Given the description of an element on the screen output the (x, y) to click on. 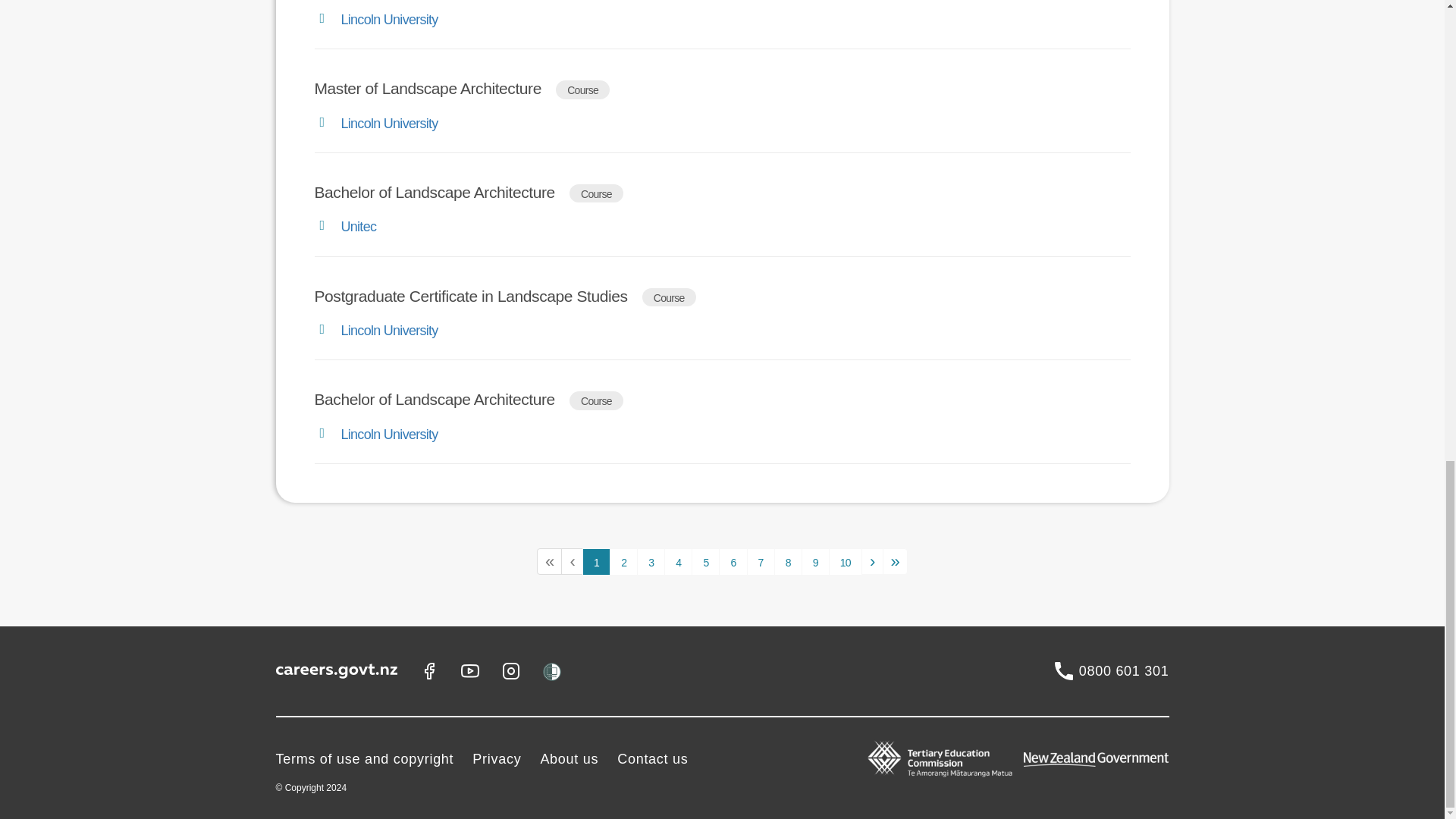
View page number 7 (760, 561)
View page number 3 (651, 561)
View page number 5 (705, 561)
View page number 10 (844, 561)
View page number 8 (788, 561)
View page number 1 (596, 561)
View page number 4 (678, 561)
View page number 9 (815, 561)
View page number 2 (623, 561)
View page number 6 (732, 561)
